Given the description of an element on the screen output the (x, y) to click on. 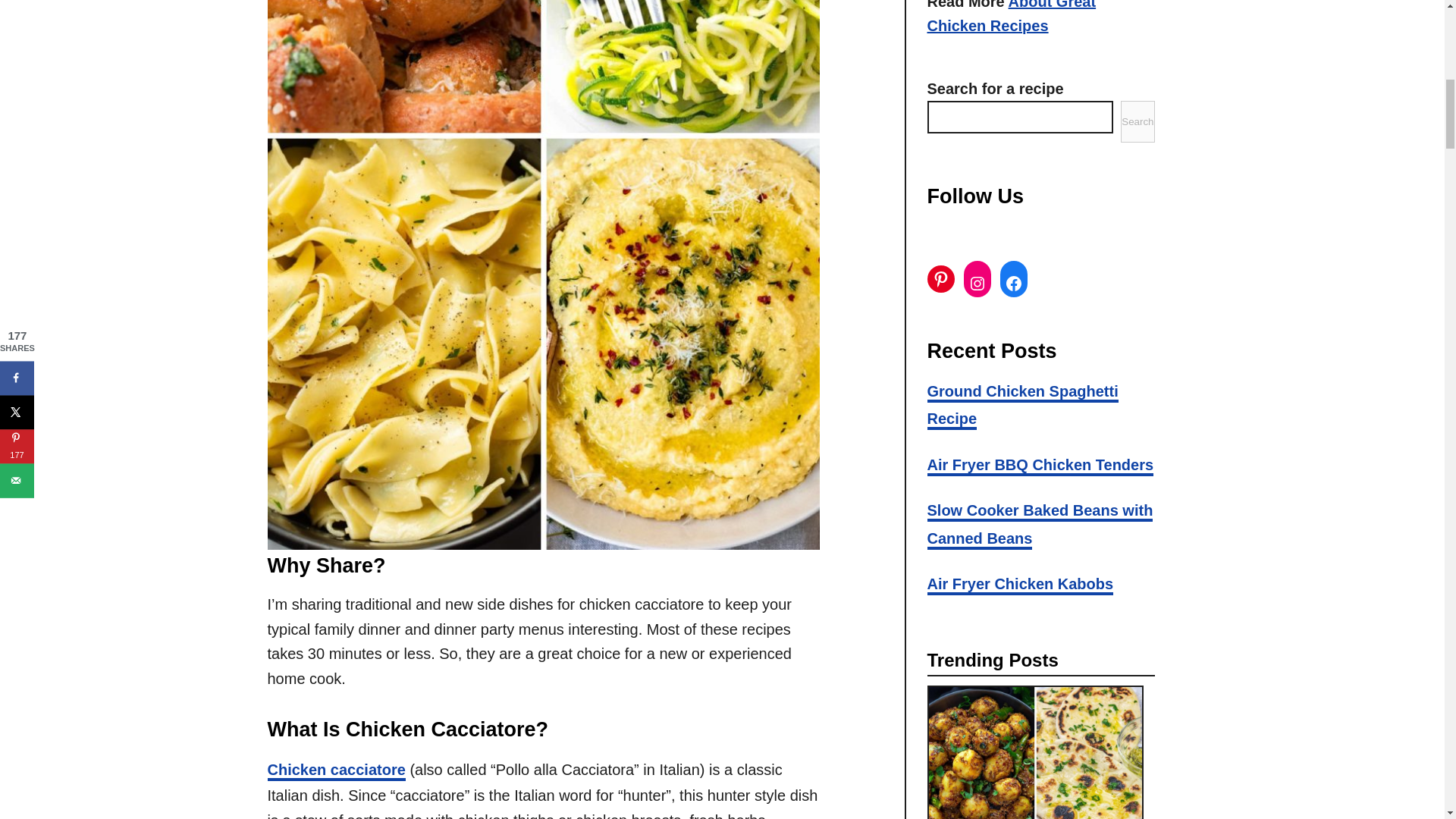
Chicken cacciatore (335, 771)
What To Serve With Butter Chicken: Best Side Dishes (1040, 752)
